Given the description of an element on the screen output the (x, y) to click on. 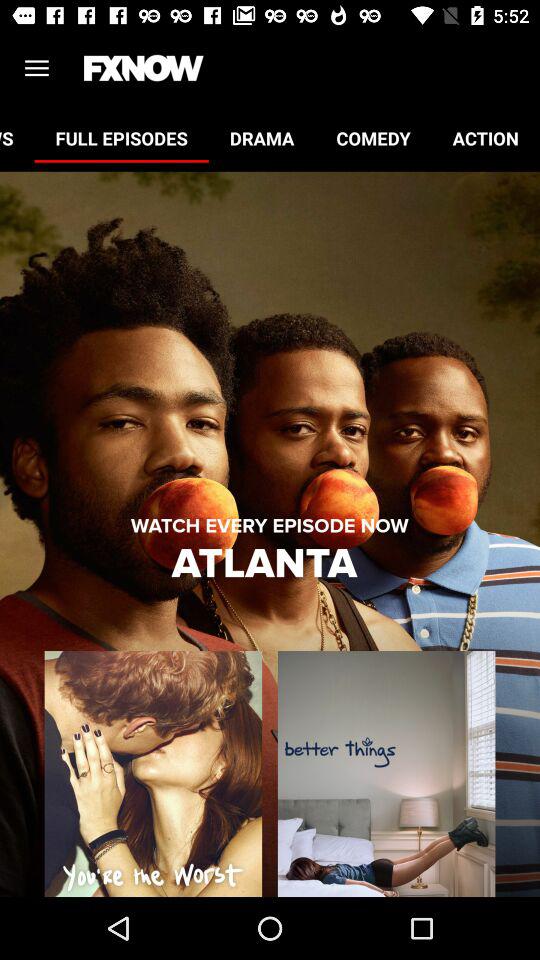
press the icon below full episodes (269, 526)
